Given the description of an element on the screen output the (x, y) to click on. 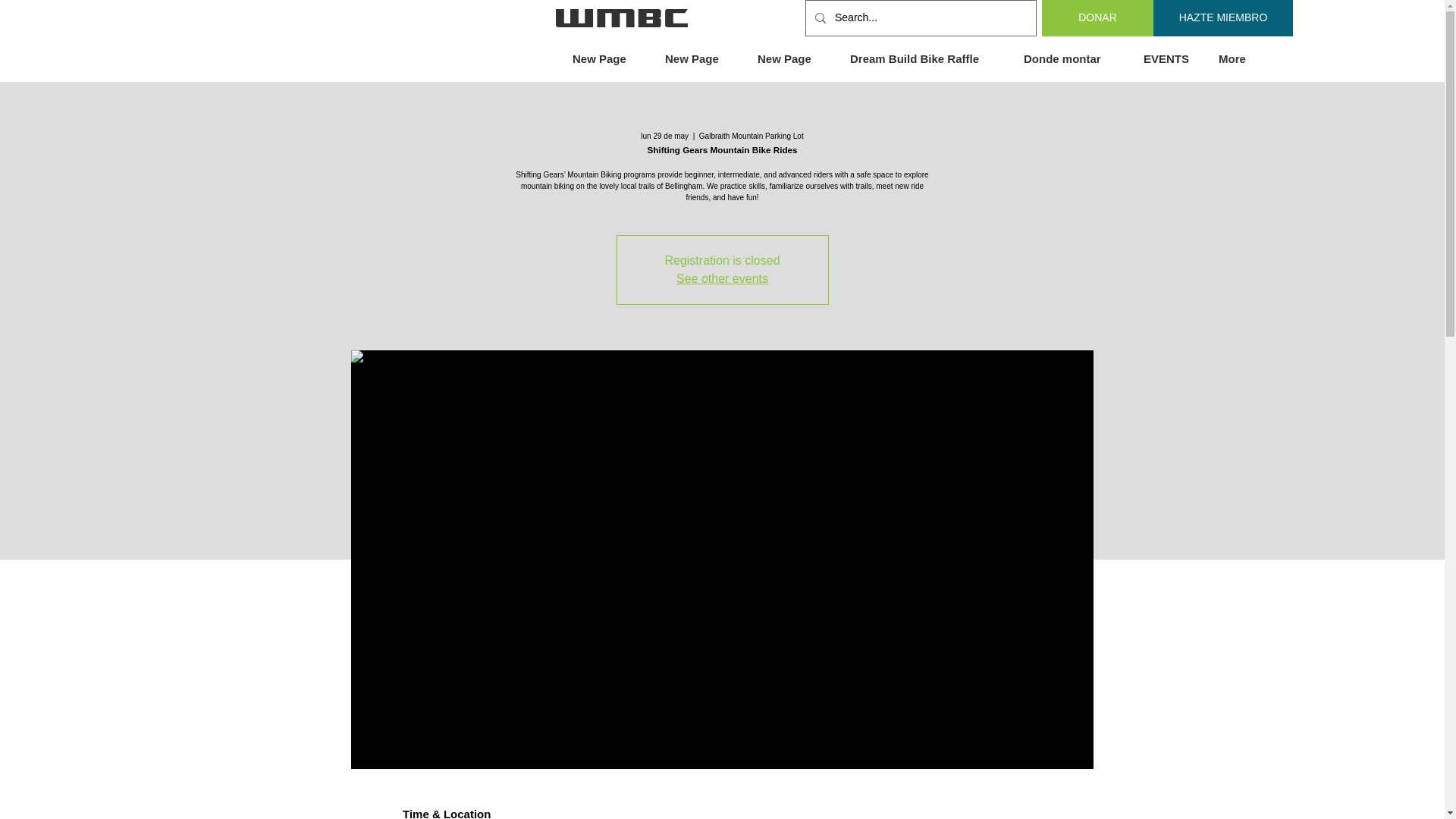
New Page (606, 58)
New Page (791, 58)
DONAR (1097, 18)
Dream Build Bike Raffle (924, 58)
HAZTE MIEMBRO (1222, 18)
New Page (699, 58)
Donde montar (1071, 58)
EVENTS (1169, 58)
